Given the description of an element on the screen output the (x, y) to click on. 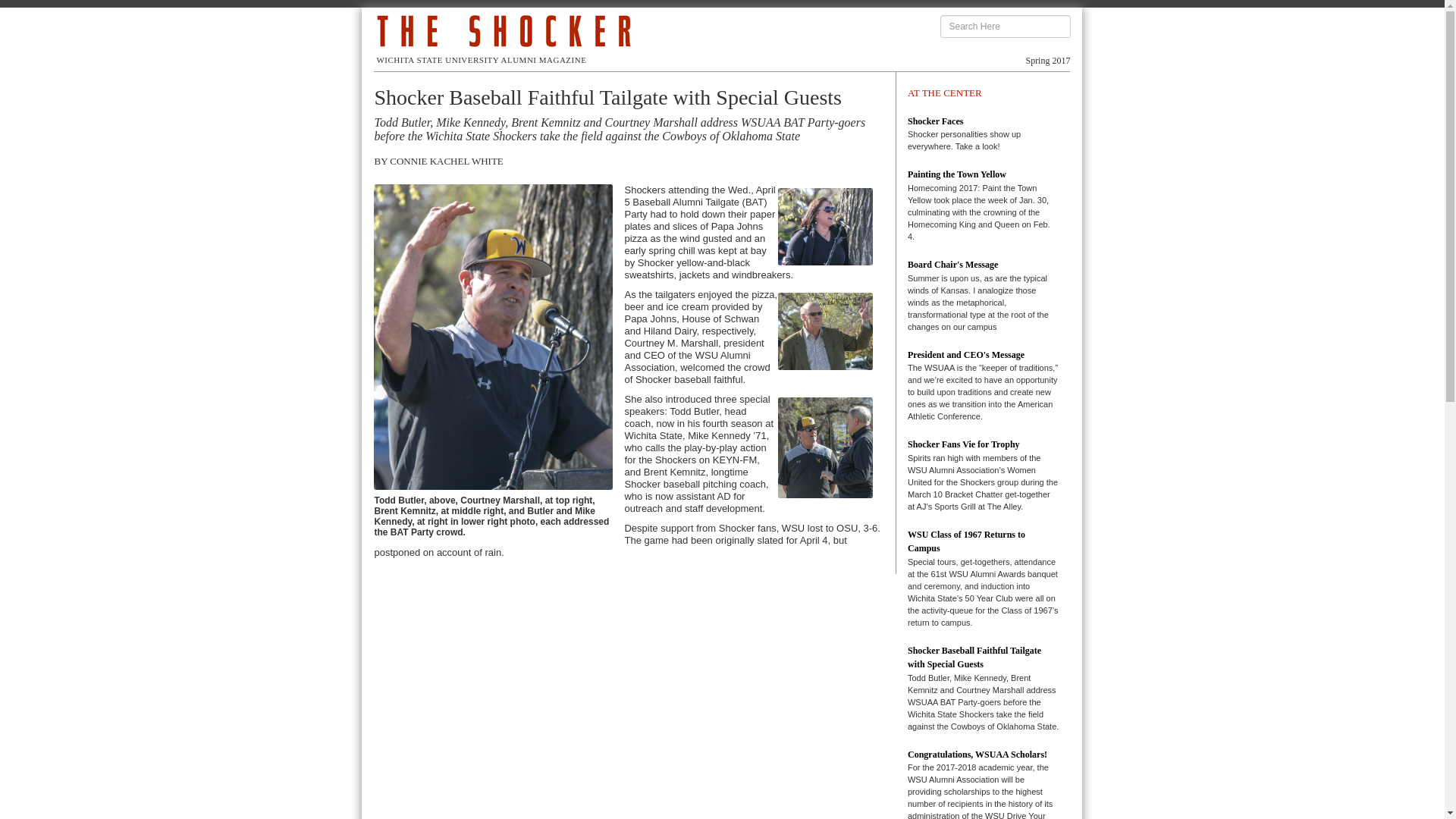
Shocker Faces (934, 121)
WSU Class of 1967 Returns to Campus (966, 541)
Shocker Fans Vie for Trophy (963, 443)
President and CEO's Message (966, 354)
Board Chair's Message (952, 264)
Painting the Town Yellow (956, 173)
